Given the description of an element on the screen output the (x, y) to click on. 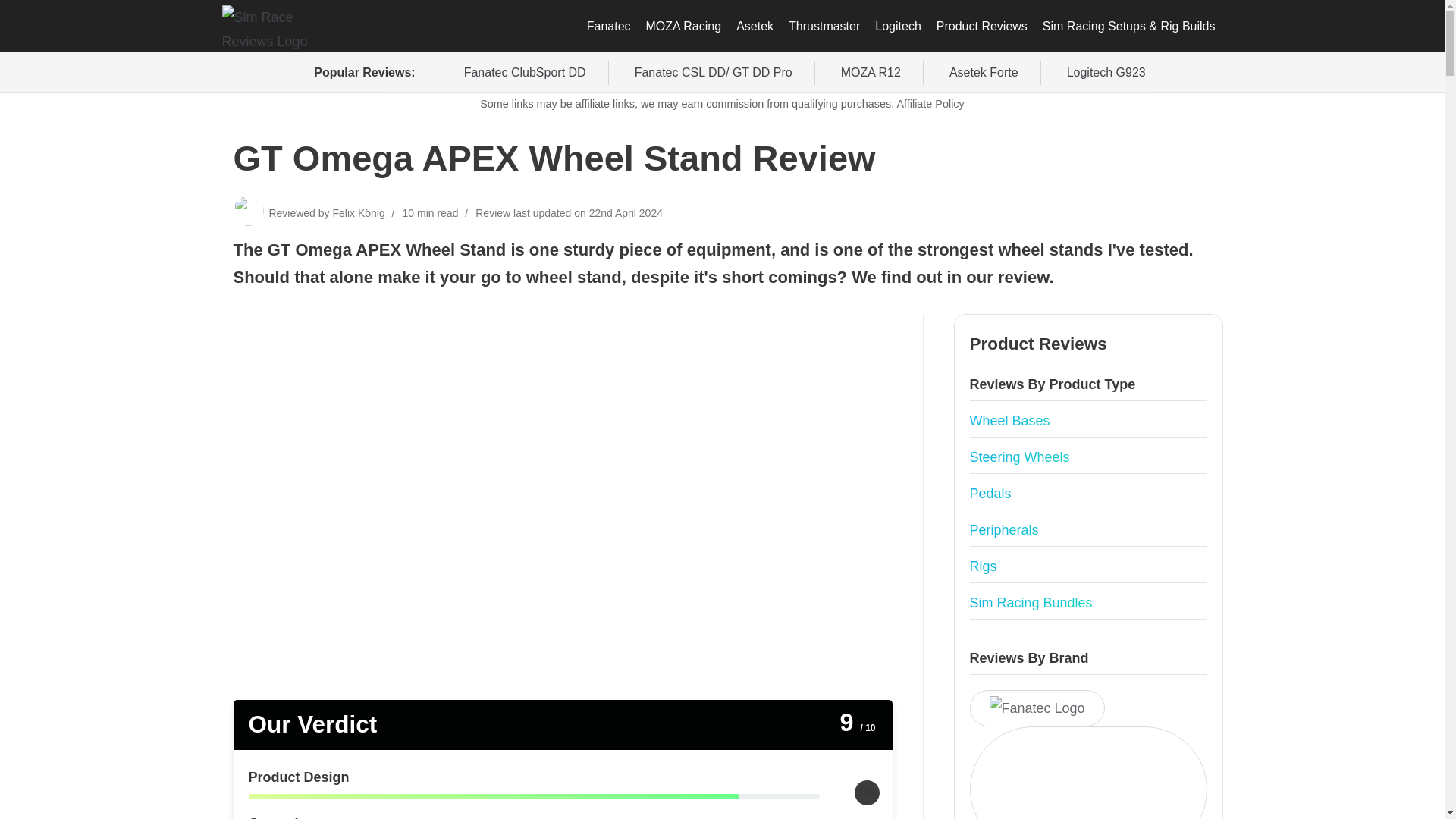
Post Author (357, 213)
MOZA Racing (684, 26)
Asetek (754, 26)
Fanatec (609, 26)
